Given the description of an element on the screen output the (x, y) to click on. 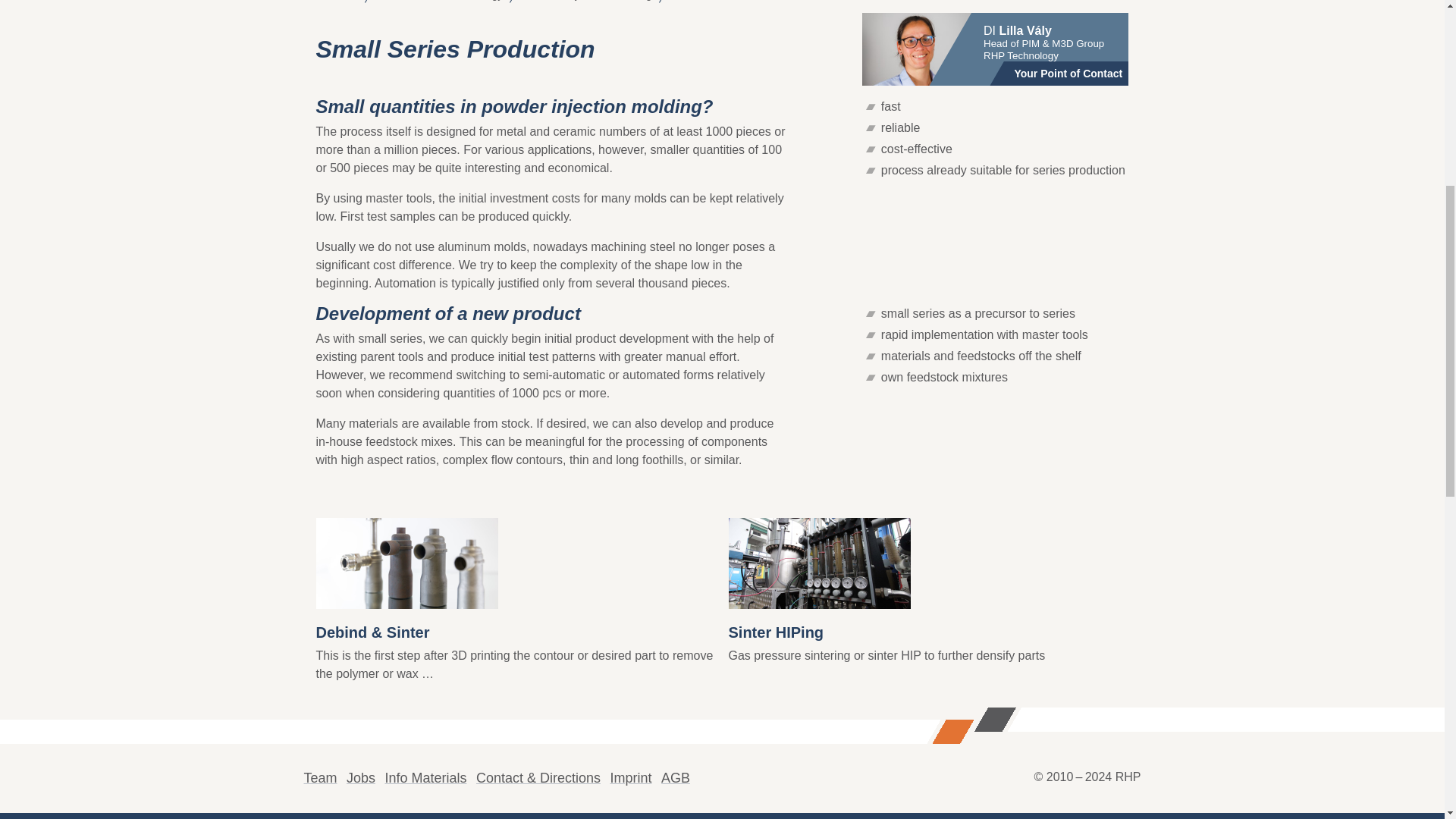
Imprint (630, 778)
Home (335, 2)
Jobs (360, 778)
Powder Injection Moulding (589, 2)
AGB (675, 778)
Info Materials (424, 778)
Team (319, 778)
